Given the description of an element on the screen output the (x, y) to click on. 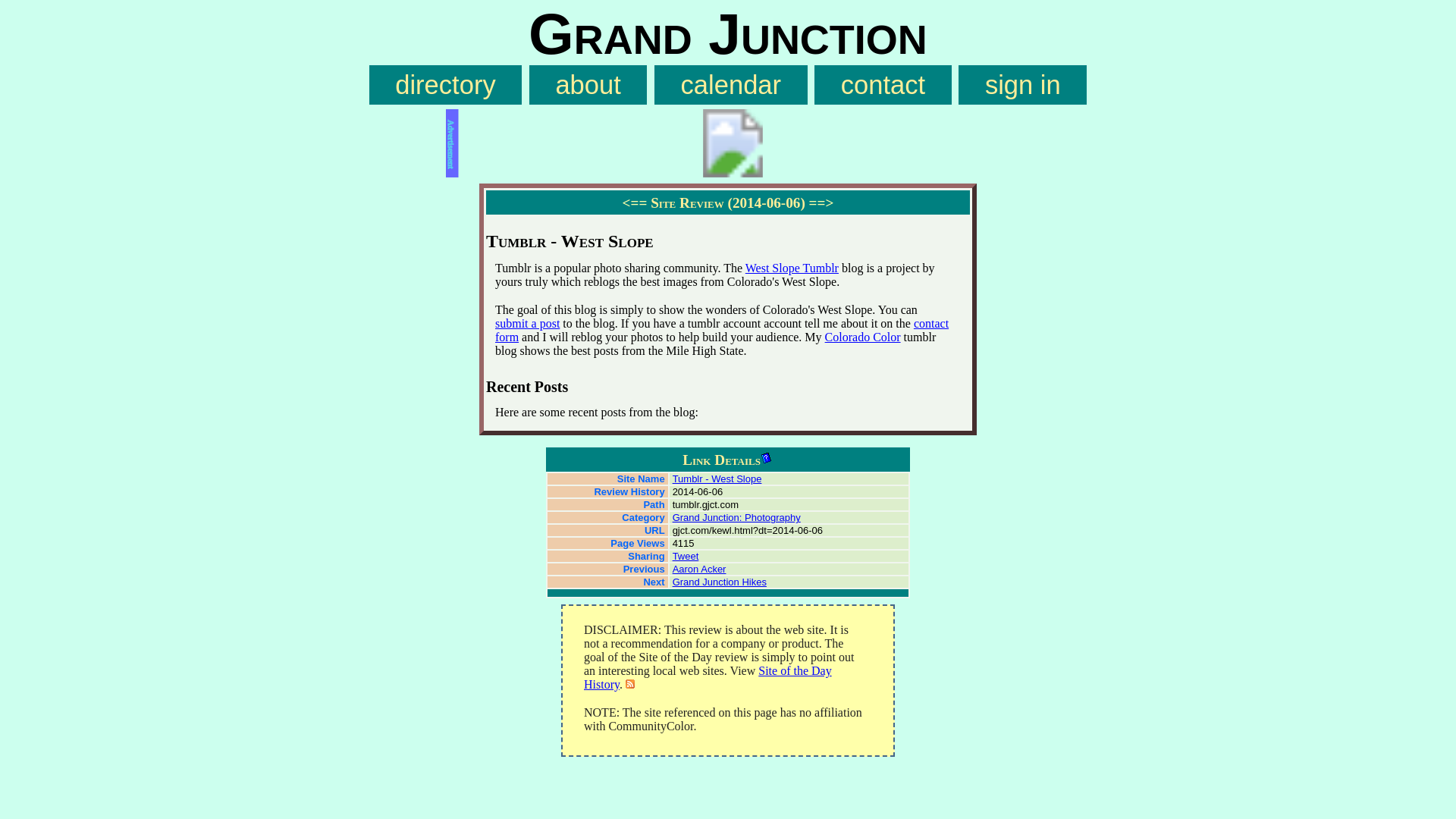
calendar (730, 84)
Advertisement (727, 142)
Tumblr - West Slope (716, 478)
directory (445, 84)
Grand Junction: Photography (736, 517)
next (821, 202)
submit a post (527, 323)
sign in (1022, 84)
West Slope Tumblr (791, 267)
Grand Junction Hikes (719, 582)
